Given the description of an element on the screen output the (x, y) to click on. 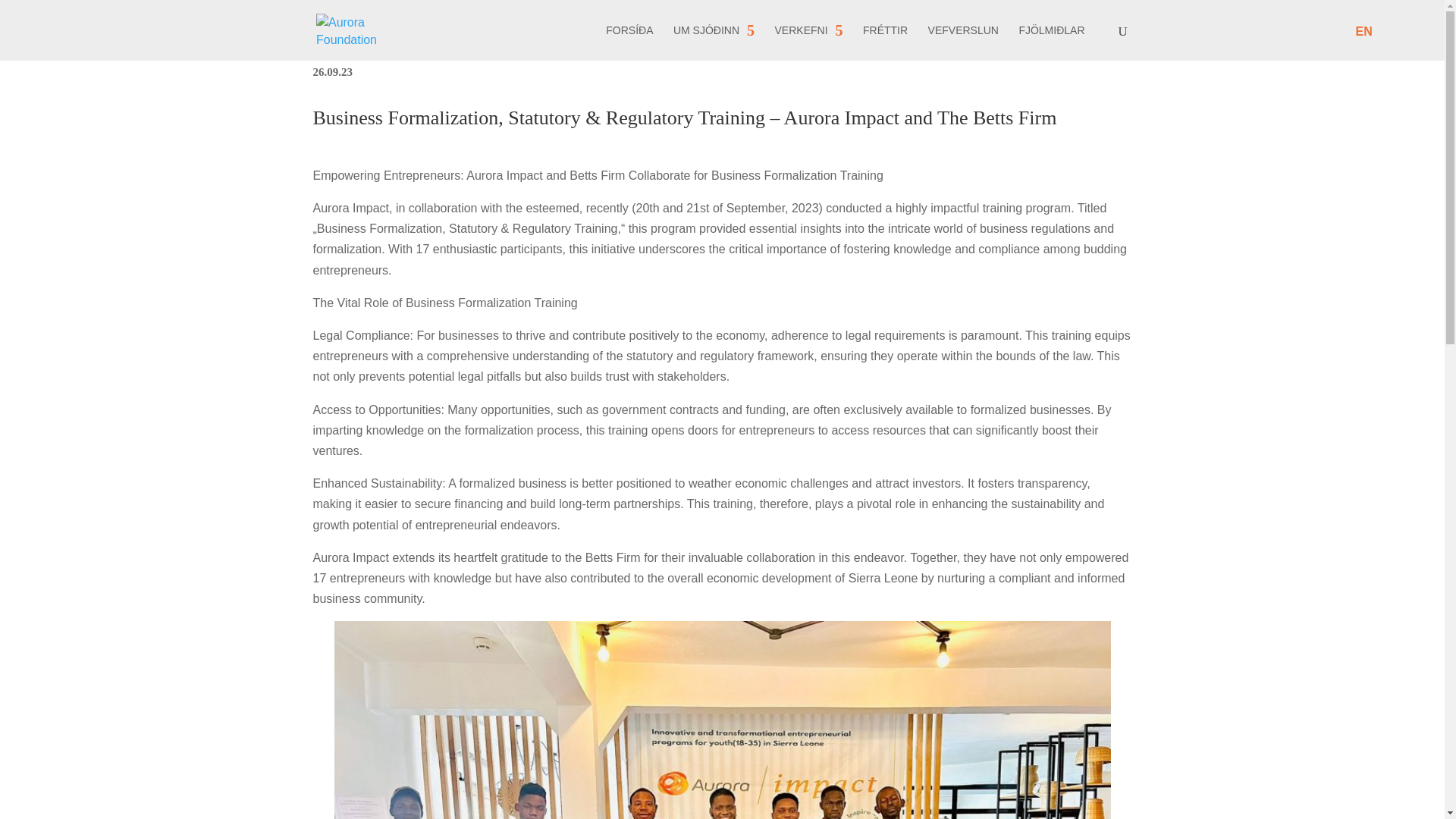
VERKEFNI (808, 42)
EN (1364, 31)
VEFVERSLUN (963, 42)
